Given the description of an element on the screen output the (x, y) to click on. 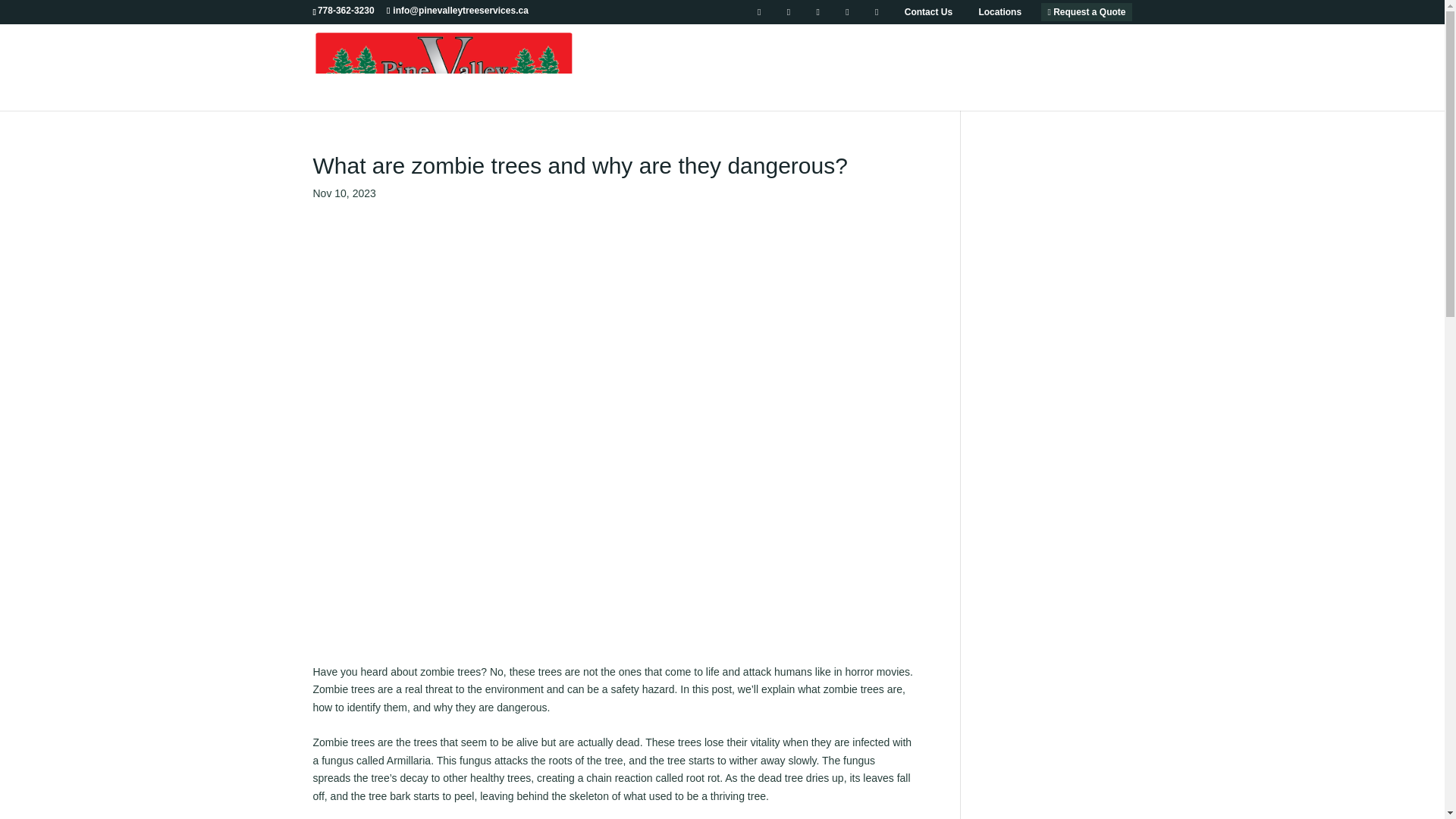
Services (938, 86)
Request a Quote (1085, 11)
Locations (1000, 11)
About Us (857, 86)
Contact Us (928, 11)
